Given the description of an element on the screen output the (x, y) to click on. 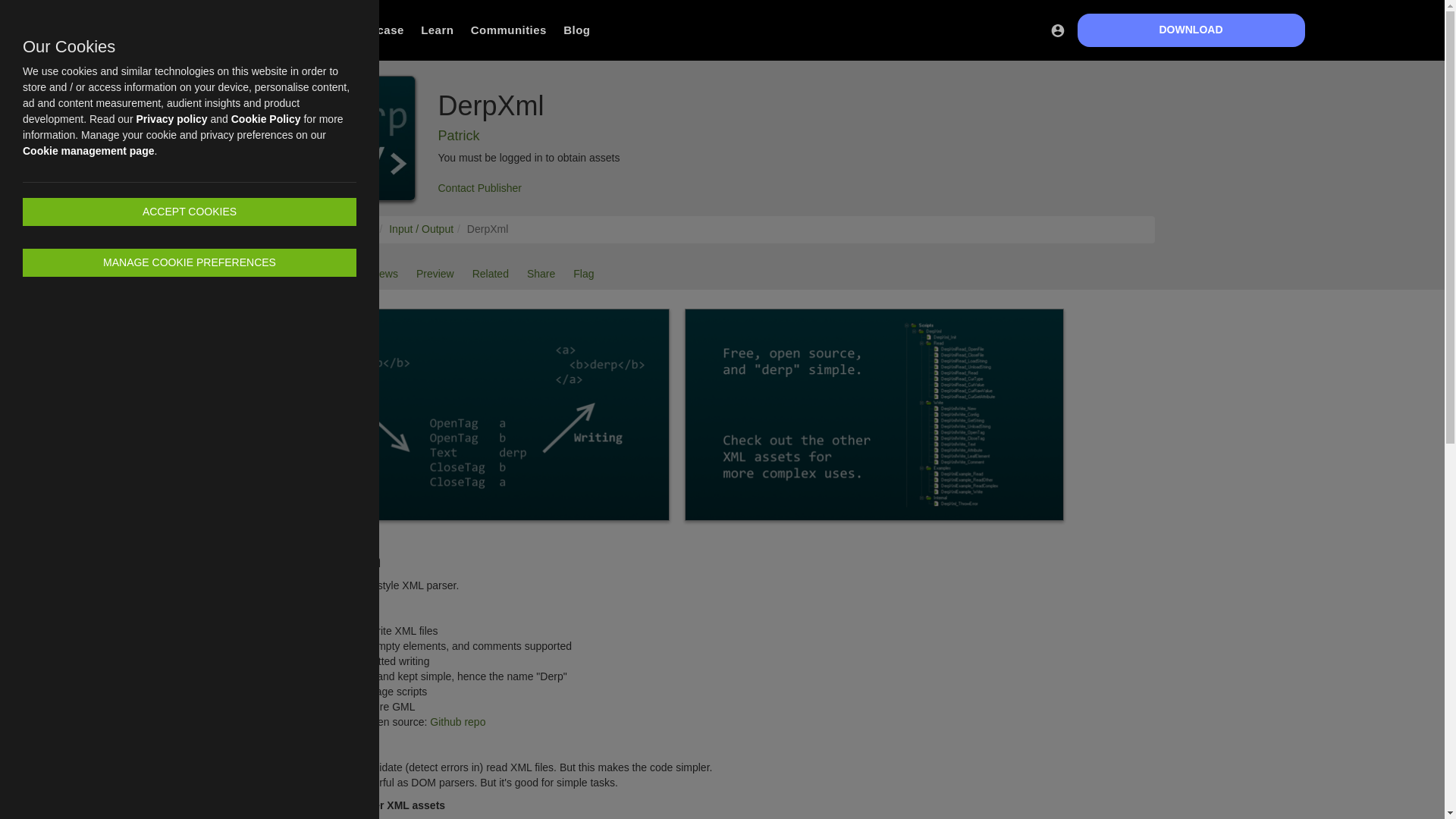
Scripts (359, 228)
Cookie management page (88, 150)
Share (540, 274)
Preview (435, 274)
Showcase (374, 30)
Cookie Policy (266, 119)
Communities (508, 30)
8 Reviews (373, 274)
Contact Publisher (480, 187)
Github repo (456, 721)
